Given the description of an element on the screen output the (x, y) to click on. 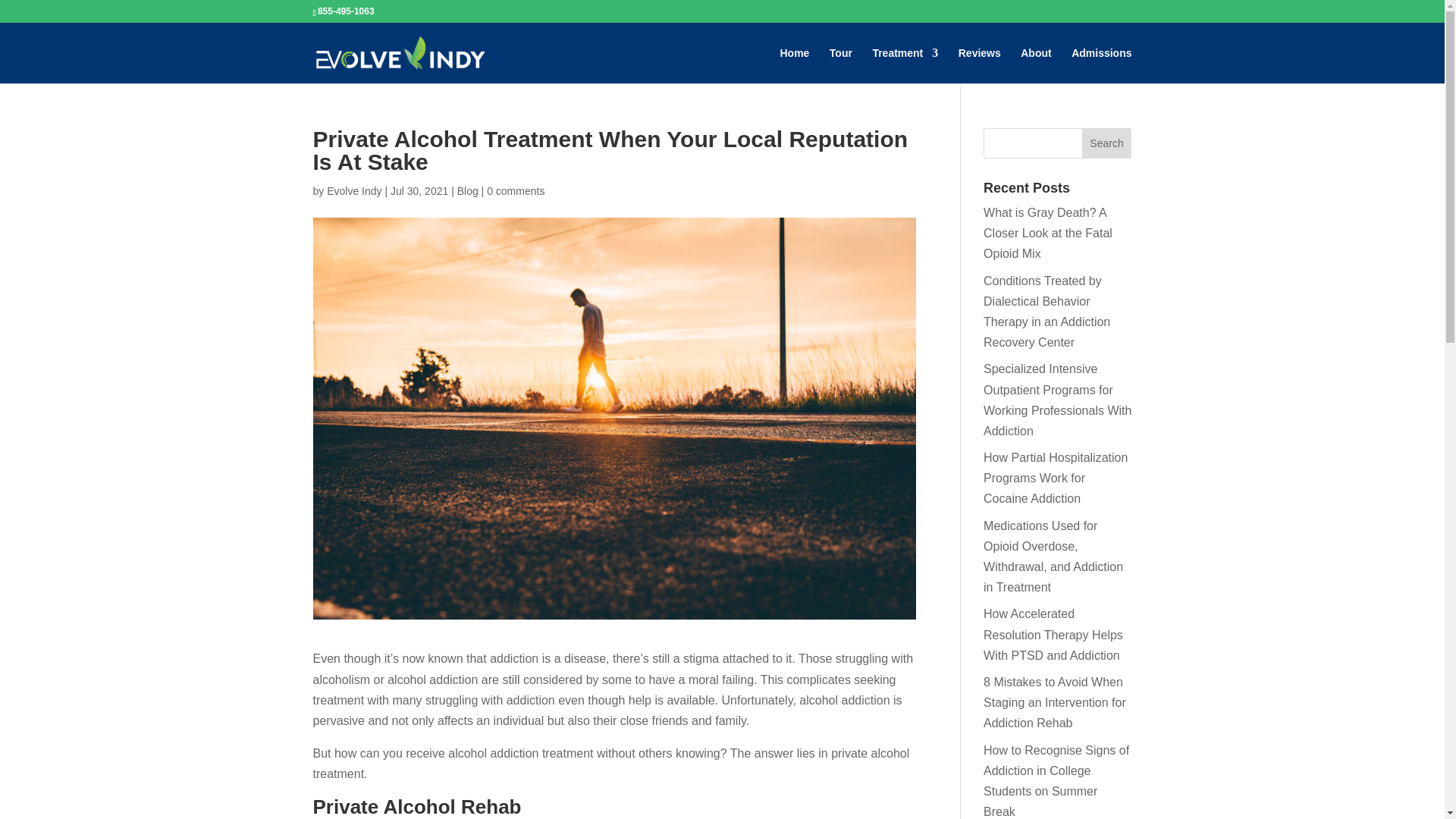
0 comments (515, 191)
Search (1106, 142)
Evolve Indy (353, 191)
Blog (468, 191)
Search (1106, 142)
855-495-1063 (345, 10)
Posts by Evolve Indy (353, 191)
Admissions (1101, 65)
What is Gray Death? A Closer Look at the Fatal Opioid Mix (1048, 233)
